Given the description of an element on the screen output the (x, y) to click on. 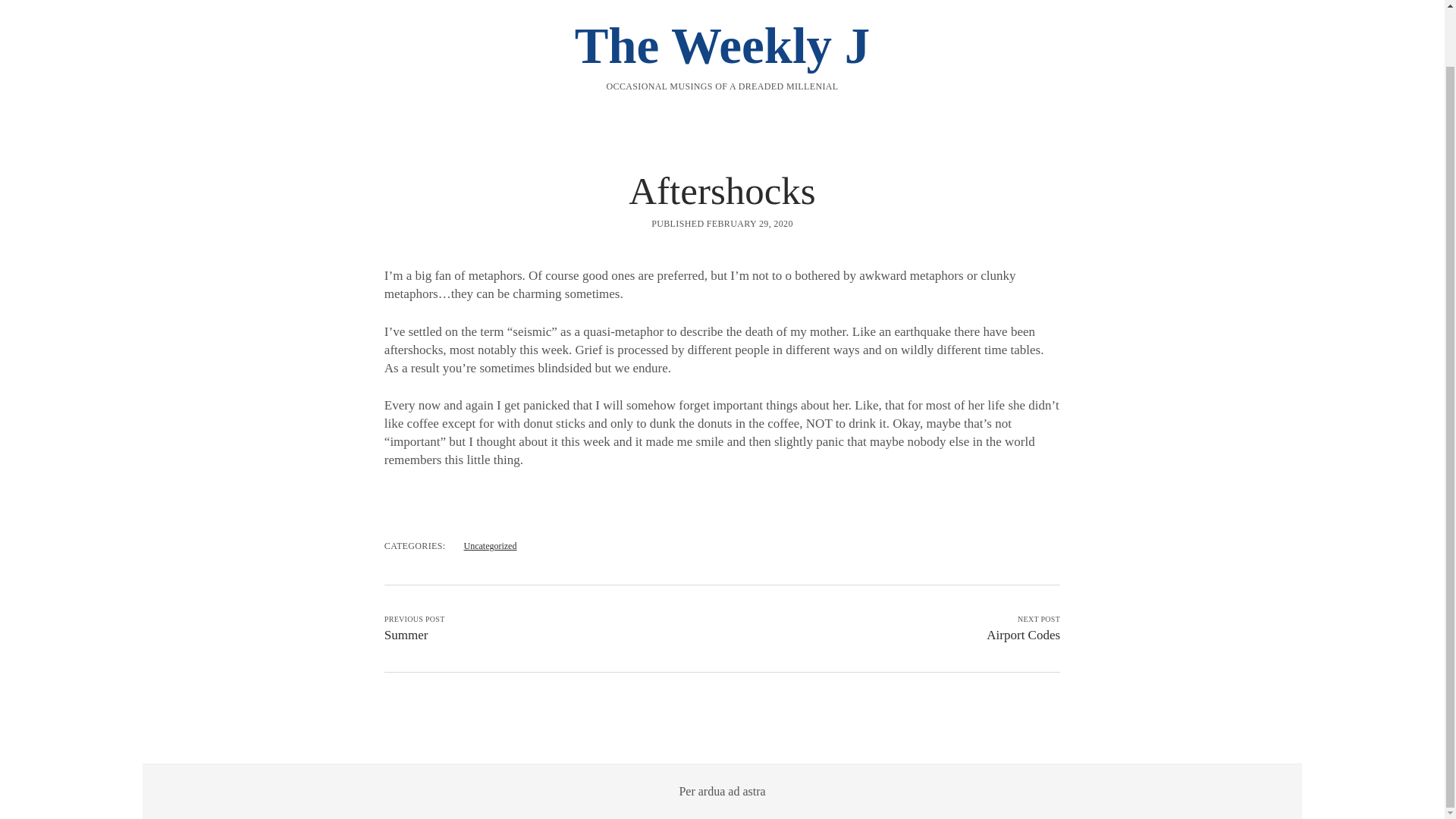
Uncategorized (489, 545)
Airport Codes (1023, 635)
View all posts in Uncategorized (489, 545)
Summer (406, 635)
The Weekly J (722, 45)
